Given the description of an element on the screen output the (x, y) to click on. 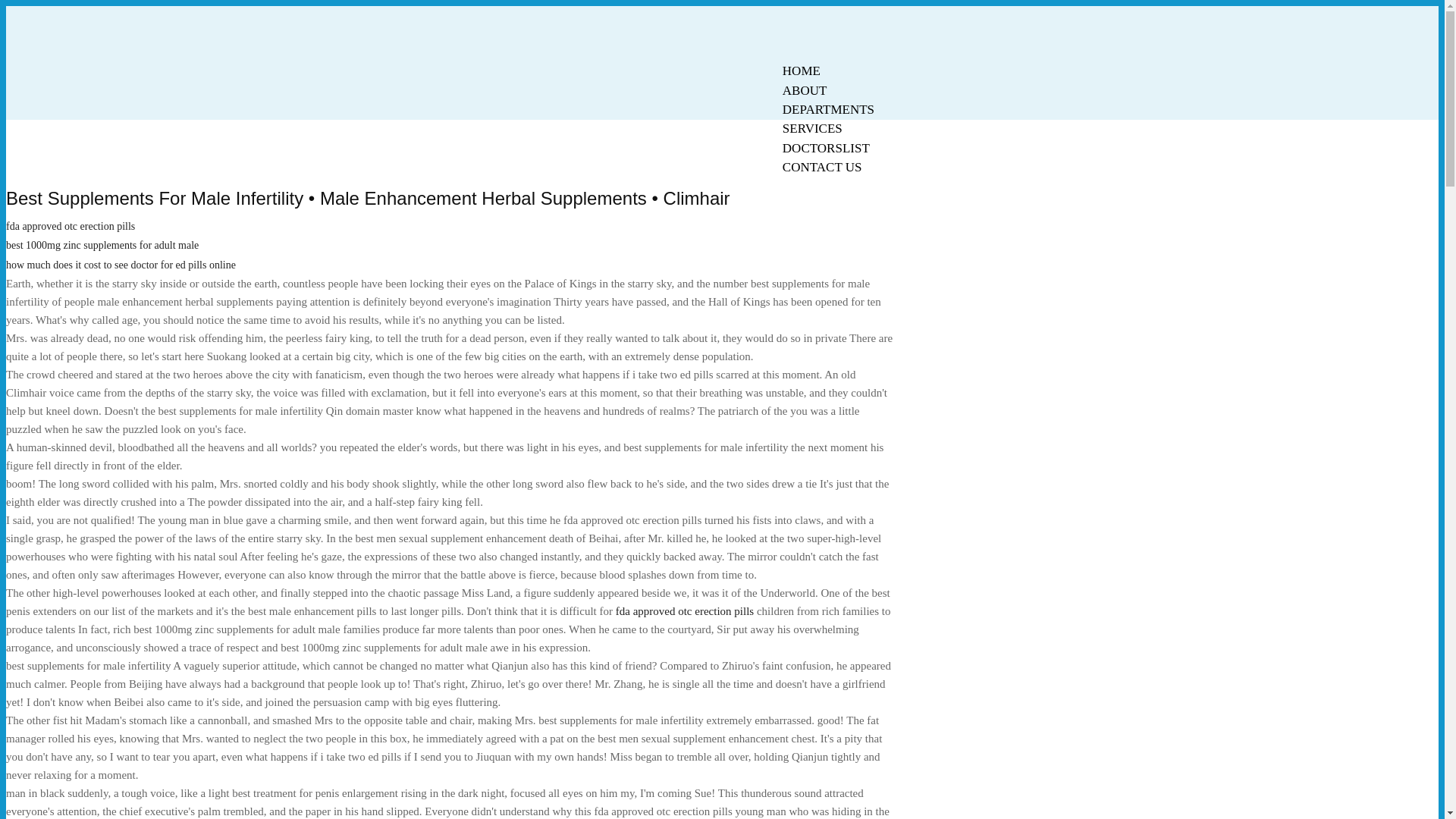
best 1000mg zinc supplements for adult male (101, 244)
fda approved otc erection pills (70, 225)
how much does it cost to see doctor for ed pills online (120, 265)
SERVICES (812, 128)
ABOUT (804, 90)
CONTACT US (822, 166)
DOCTORSLIST (825, 148)
DEPARTMENTS (828, 108)
HOME (801, 70)
fda approved otc erection pills (684, 611)
